Given the description of an element on the screen output the (x, y) to click on. 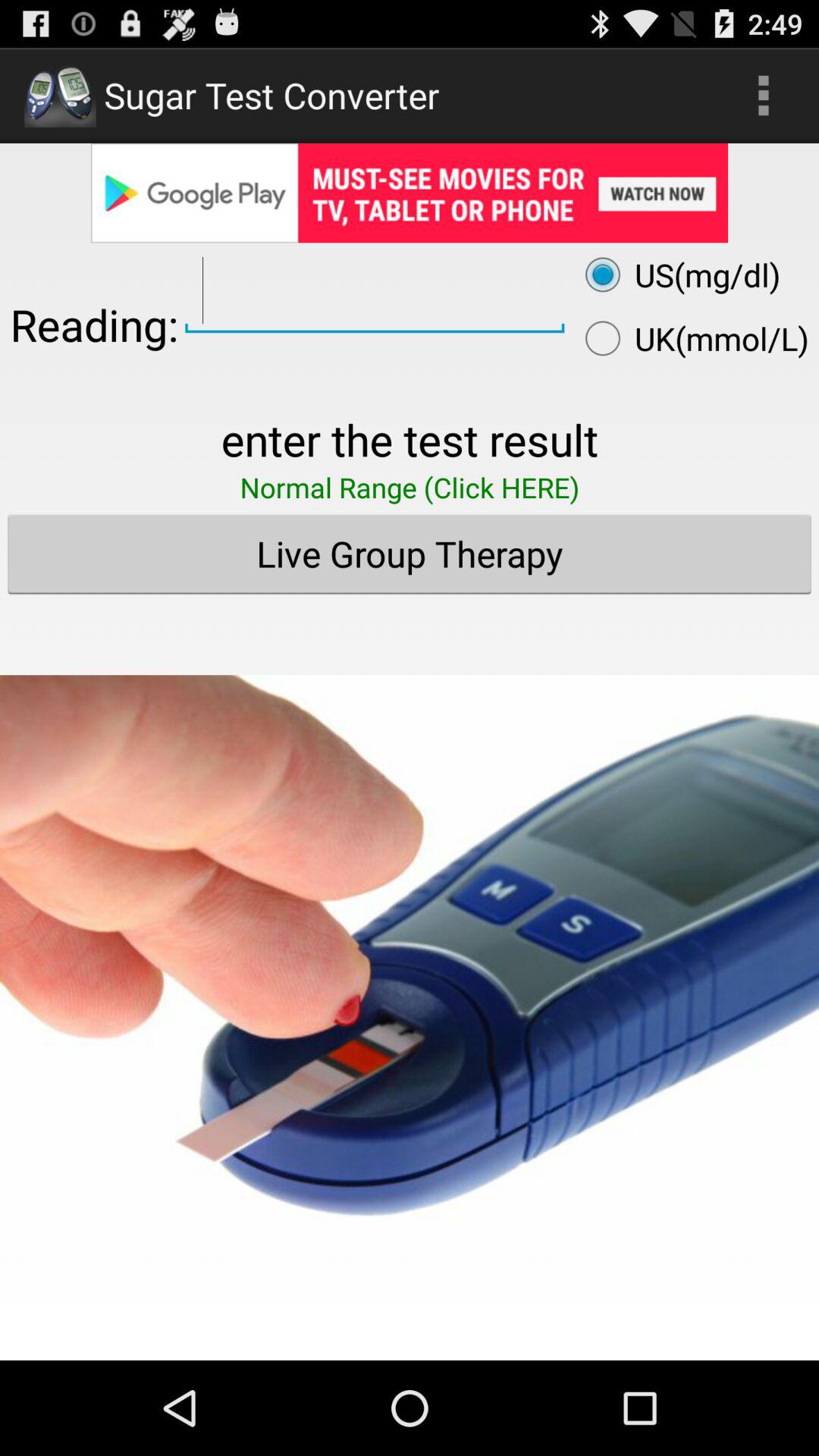
details about advertisement (409, 192)
